Given the description of an element on the screen output the (x, y) to click on. 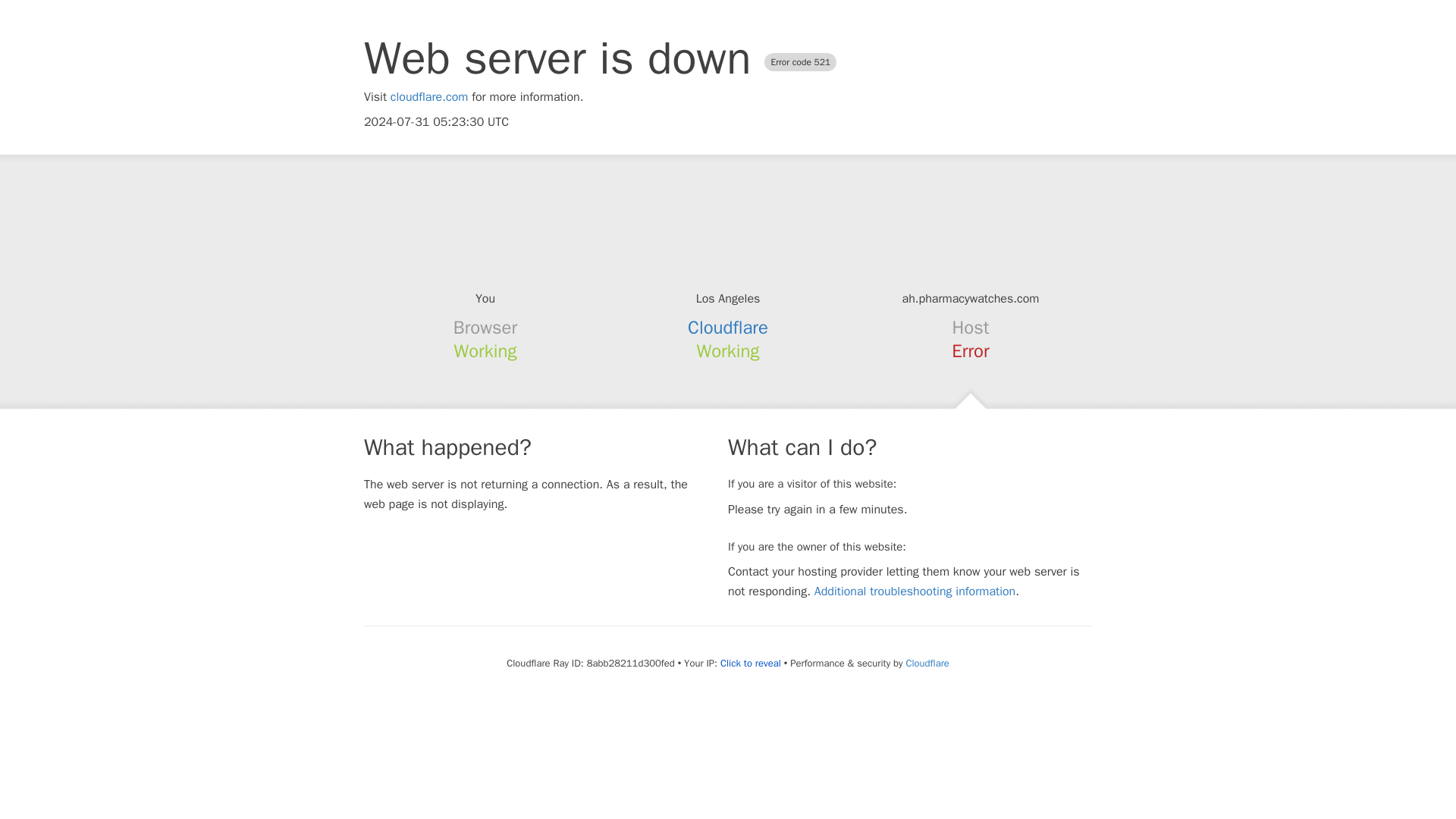
Cloudflare (727, 327)
Cloudflare (927, 662)
Click to reveal (750, 663)
cloudflare.com (429, 96)
Additional troubleshooting information (913, 590)
